Given the description of an element on the screen output the (x, y) to click on. 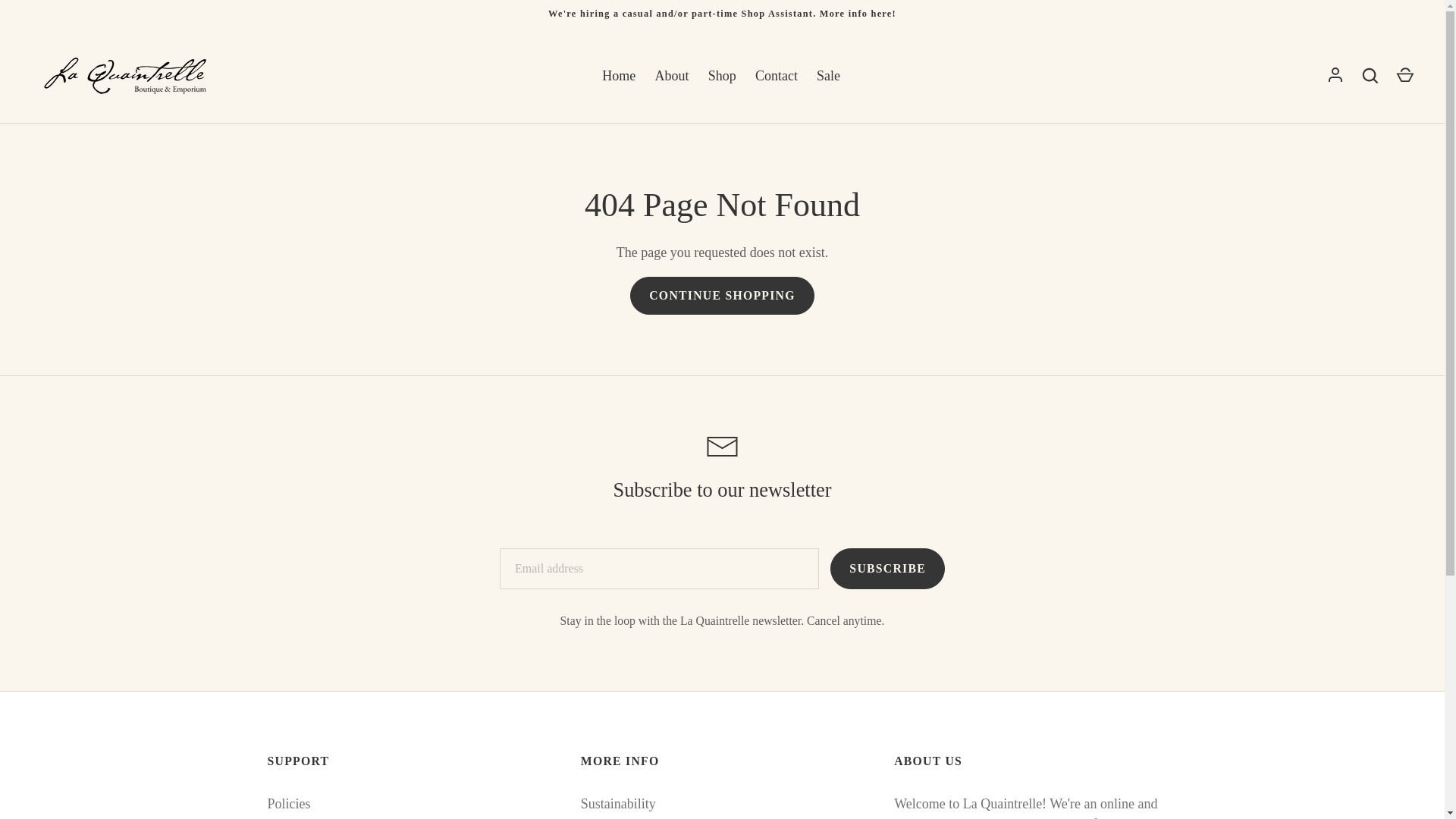
Home (618, 76)
Contact (775, 76)
Email (722, 446)
About (671, 76)
Shop (721, 76)
